Given the description of an element on the screen output the (x, y) to click on. 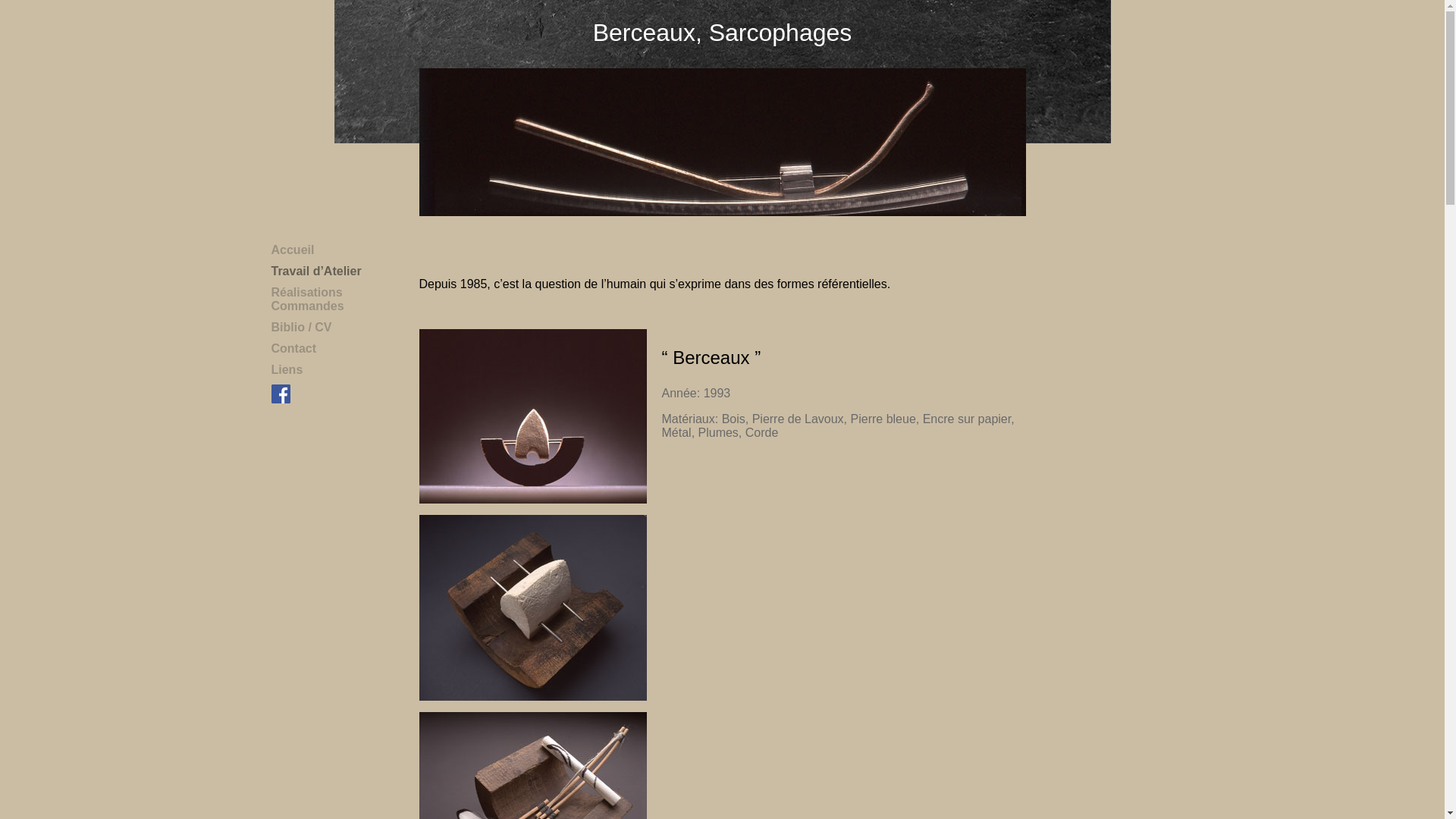
Contact Element type: text (293, 348)
Liens Element type: text (287, 369)
Biblio / CV Element type: text (301, 326)
Accueil Element type: text (292, 249)
